Given the description of an element on the screen output the (x, y) to click on. 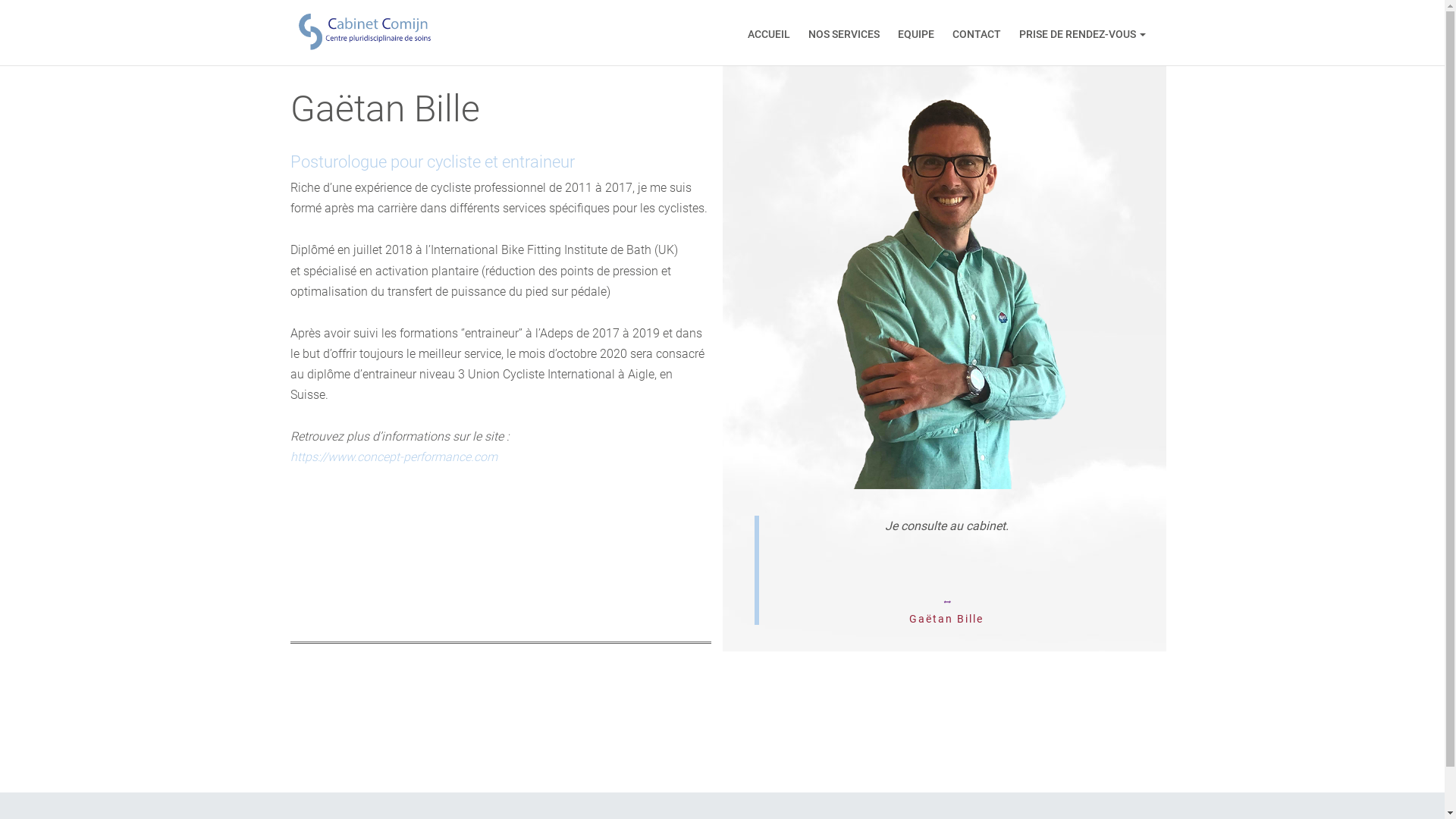
PRISE DE RENDEZ-VOUS Element type: text (1082, 32)
https://www.concept-performance.com Element type: text (392, 456)
CONTACT Element type: text (976, 32)
EQUIPE Element type: text (915, 32)
ACCUEIL Element type: text (768, 32)
NOS SERVICES Element type: text (843, 32)
